Given the description of an element on the screen output the (x, y) to click on. 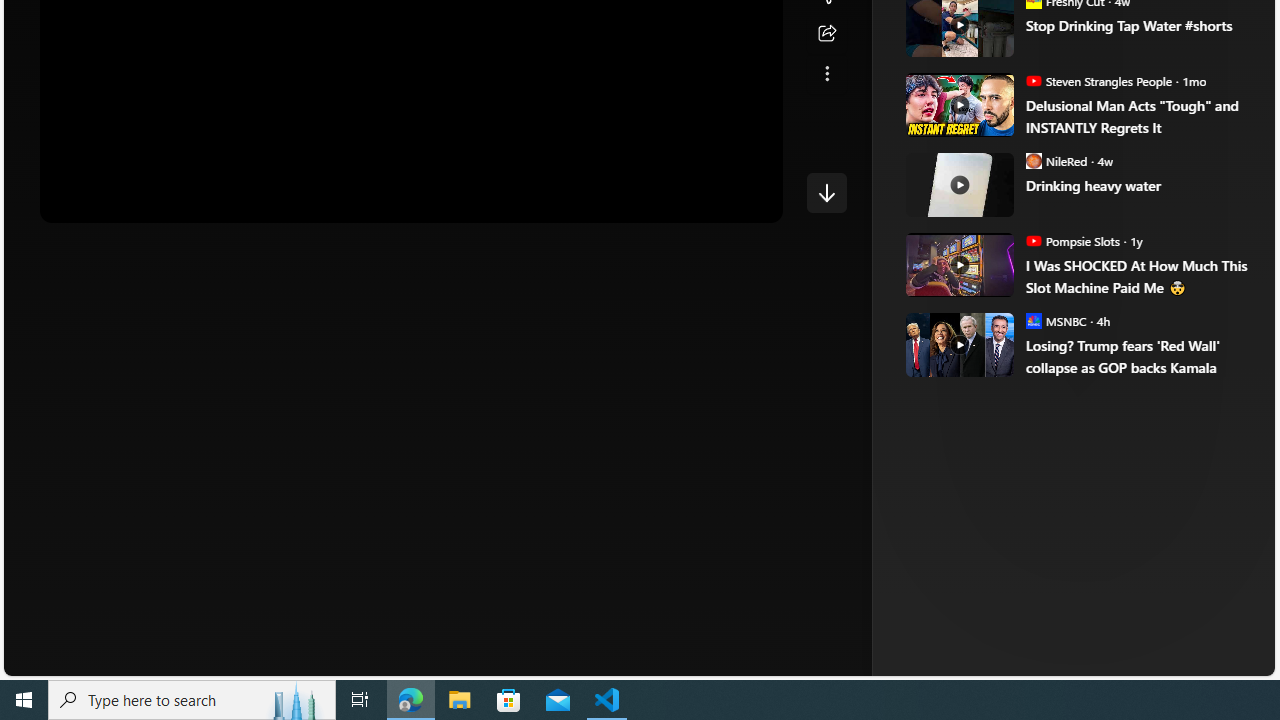
ABC News (974, 12)
Class: control (826, 192)
MSNBC MSNBC (1055, 320)
Drinking heavy water (1136, 185)
Stop Drinking Tap Water #shorts (1136, 24)
Pompsie Slots (1033, 240)
AutomationID: e5rZOEMGacU1 (826, 192)
See more (826, 74)
NileRed NileRed (1056, 160)
Delusional Man Acts "Tough" and INSTANTLY Regrets It (1136, 116)
MSNBC (1033, 320)
NileRed (1033, 160)
Nordace.com (1016, 337)
